Given the description of an element on the screen output the (x, y) to click on. 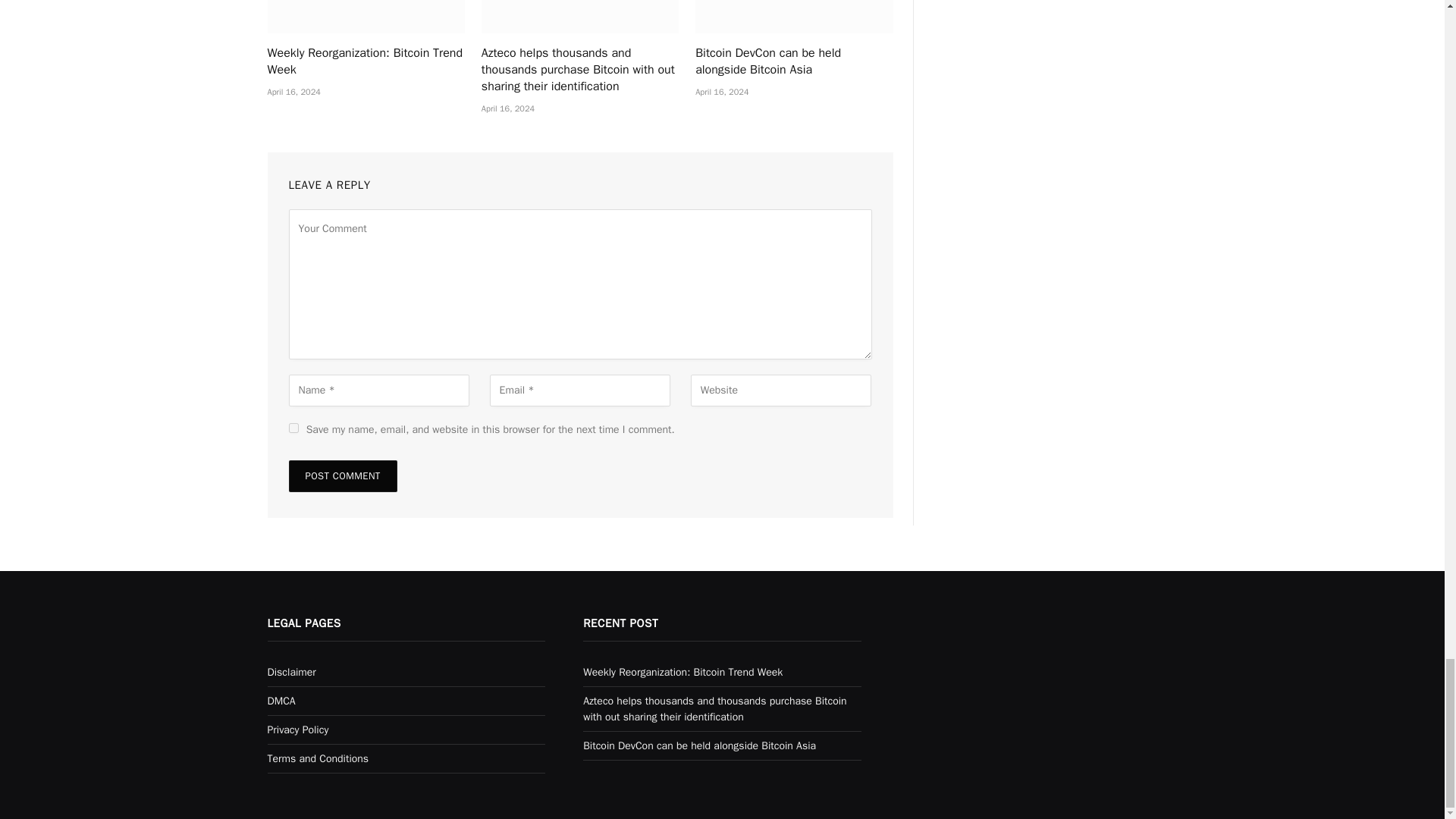
yes (293, 428)
Weekly Reorganization: Bitcoin Trend Week (365, 61)
Bitcoin DevCon can be held alongside Bitcoin Asia (793, 16)
Weekly Reorganization: Bitcoin Trend Week (365, 16)
Post Comment (342, 476)
